Given the description of an element on the screen output the (x, y) to click on. 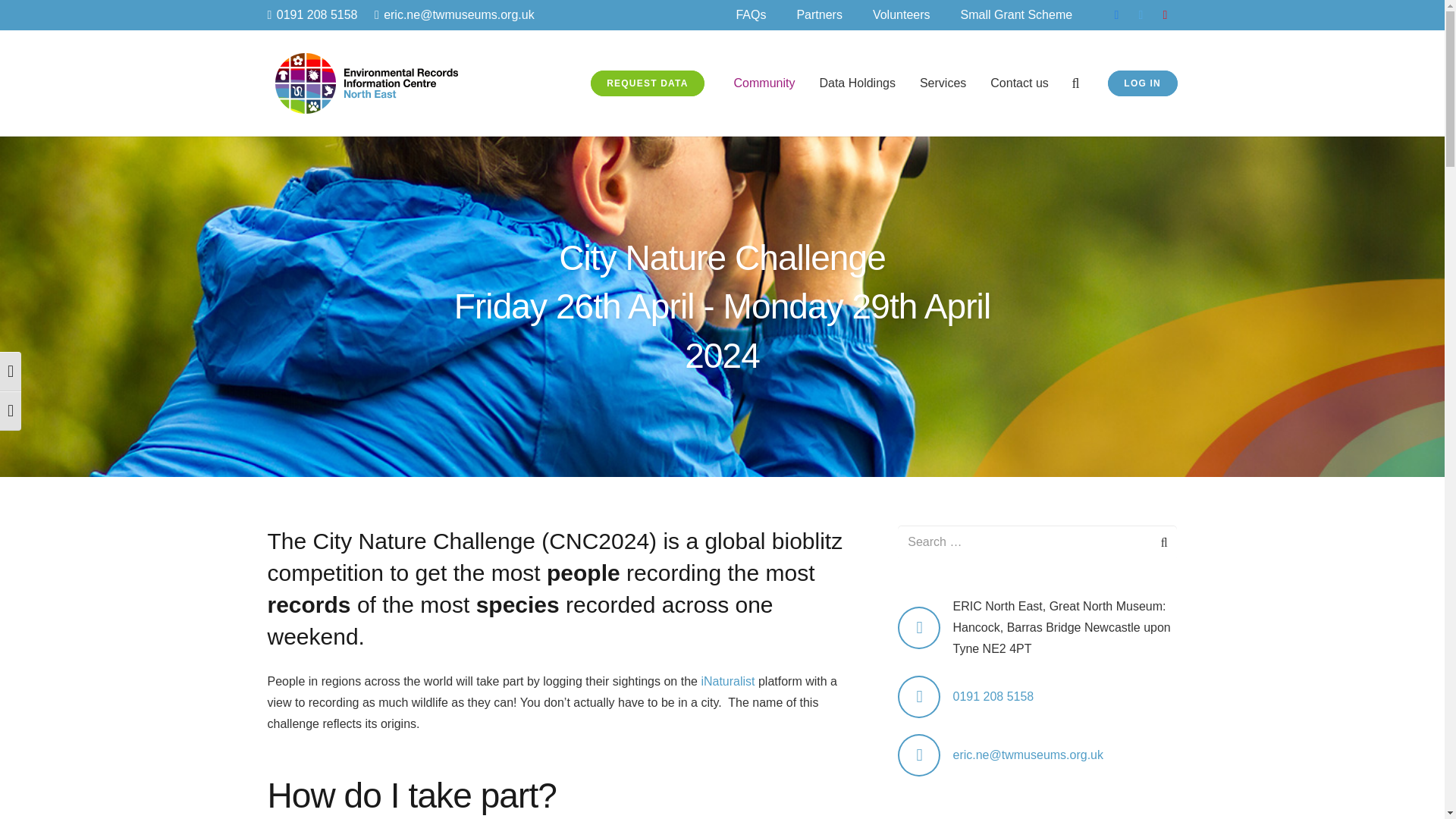
Volunteers (900, 15)
YouTube (1165, 15)
iNaturalist (727, 680)
Small Grant Scheme (1015, 15)
Twitter (1141, 15)
0191 208 5158 (311, 14)
LOG IN (1142, 83)
REQUEST DATA (647, 83)
Partners (818, 15)
FAQs (750, 15)
